Given the description of an element on the screen output the (x, y) to click on. 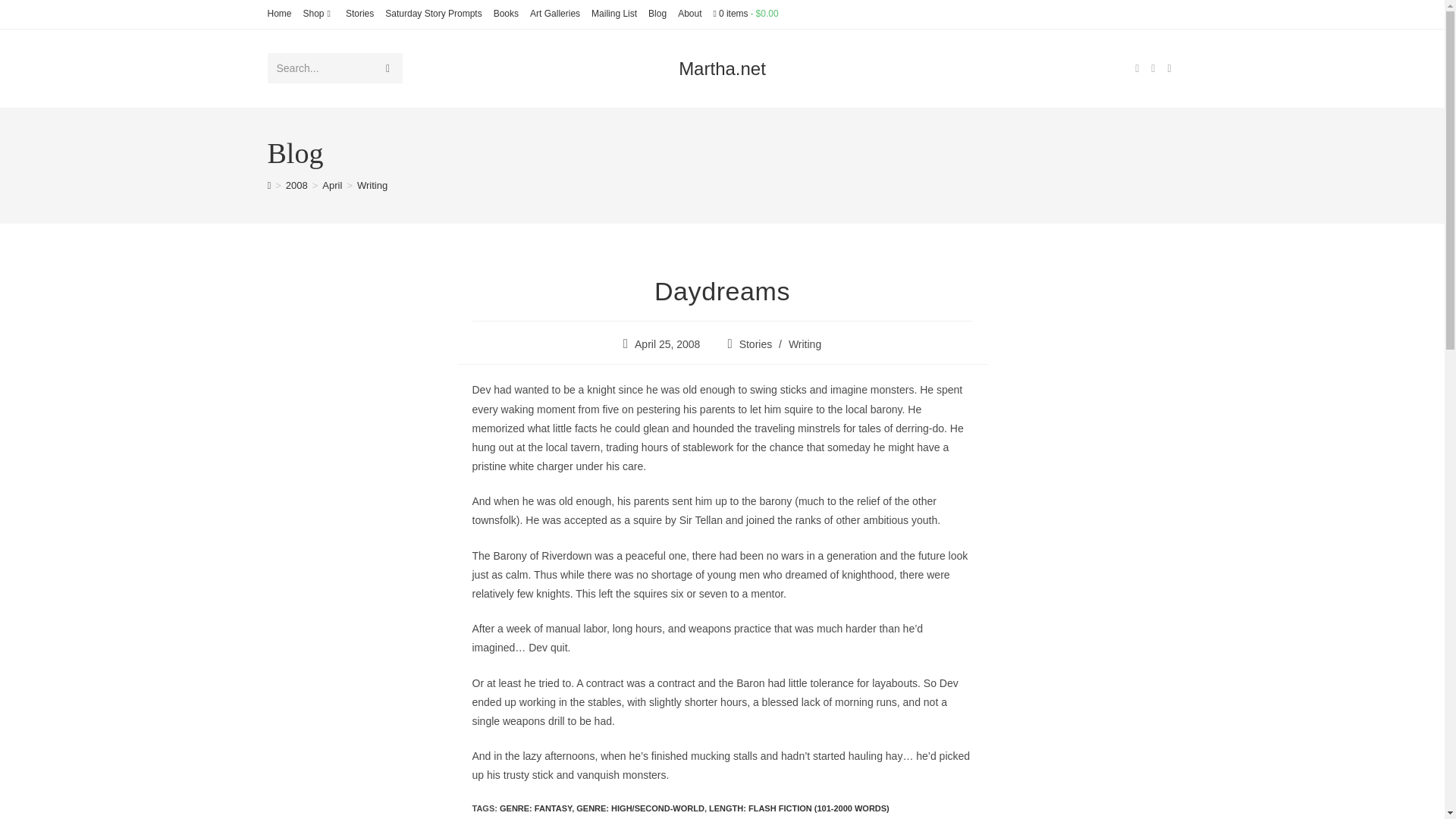
Books (505, 13)
Start shopping (745, 13)
Stories (360, 13)
Martha.net (721, 68)
Submit search (386, 68)
Saturday Story Prompts (433, 13)
Mailing List (614, 13)
Blog (656, 13)
Art Galleries (554, 13)
About (689, 13)
